Given the description of an element on the screen output the (x, y) to click on. 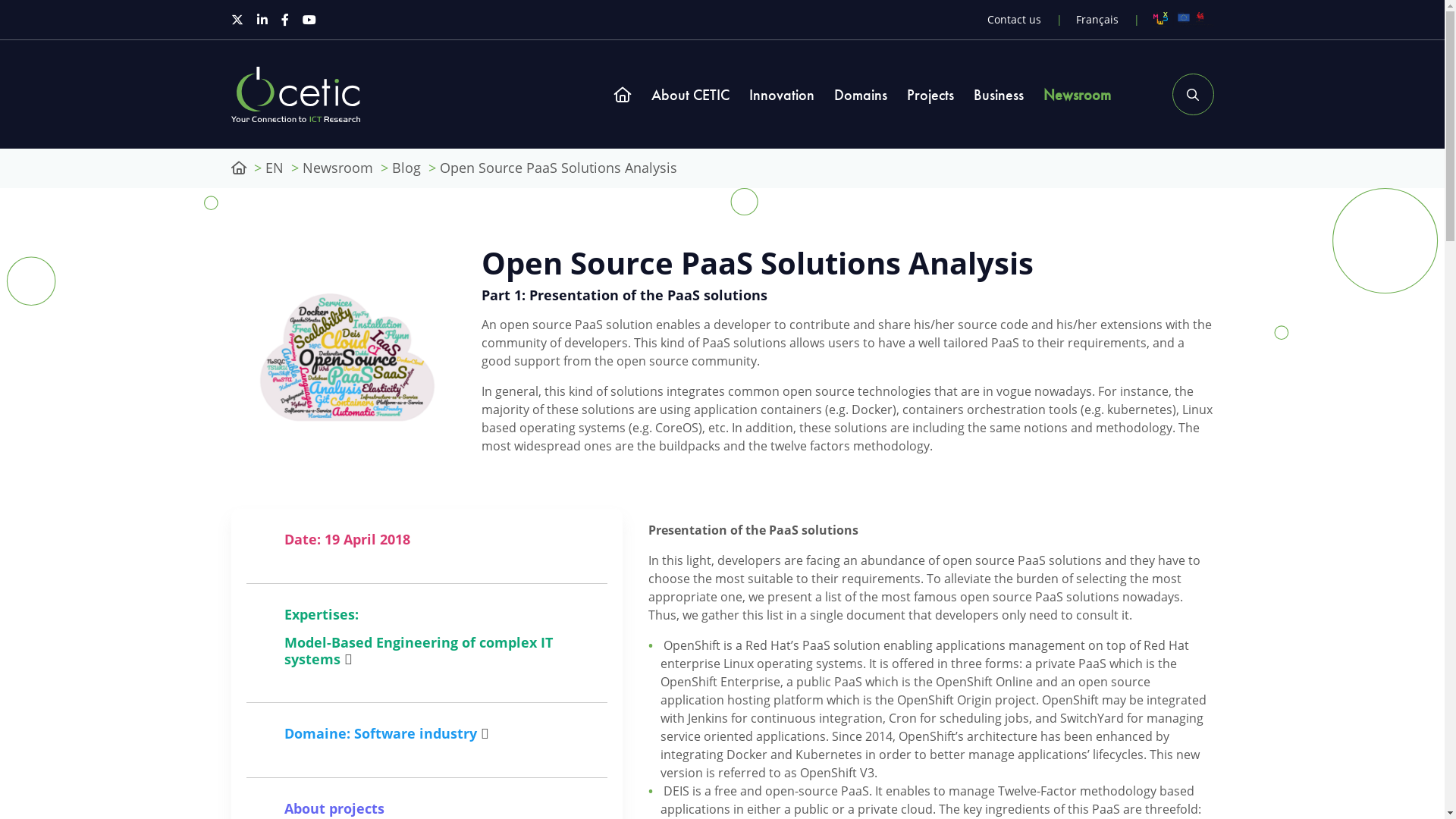
Newsroom Element type: text (1076, 94)
EN Element type: text (274, 167)
Blog Element type: text (405, 167)
Newsroom Element type: text (336, 167)
Innovation Element type: text (781, 94)
Contact us Element type: text (1014, 19)
About CETIC Element type: text (689, 94)
Projects Element type: text (929, 94)
Domains Element type: text (860, 94)
Business Element type: text (998, 94)
